Given the description of an element on the screen output the (x, y) to click on. 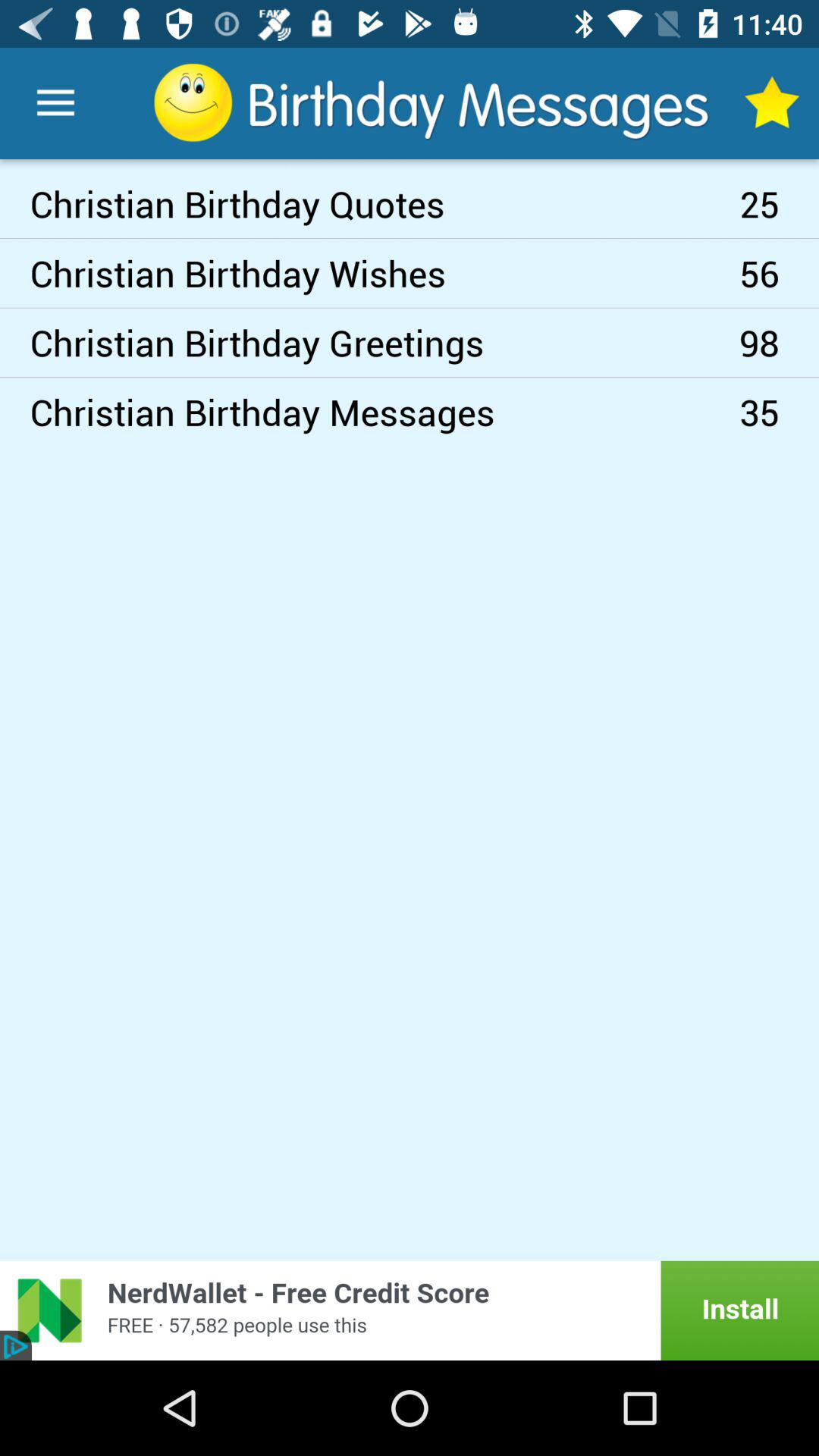
tap the icon above christian birthday quotes item (55, 103)
